Given the description of an element on the screen output the (x, y) to click on. 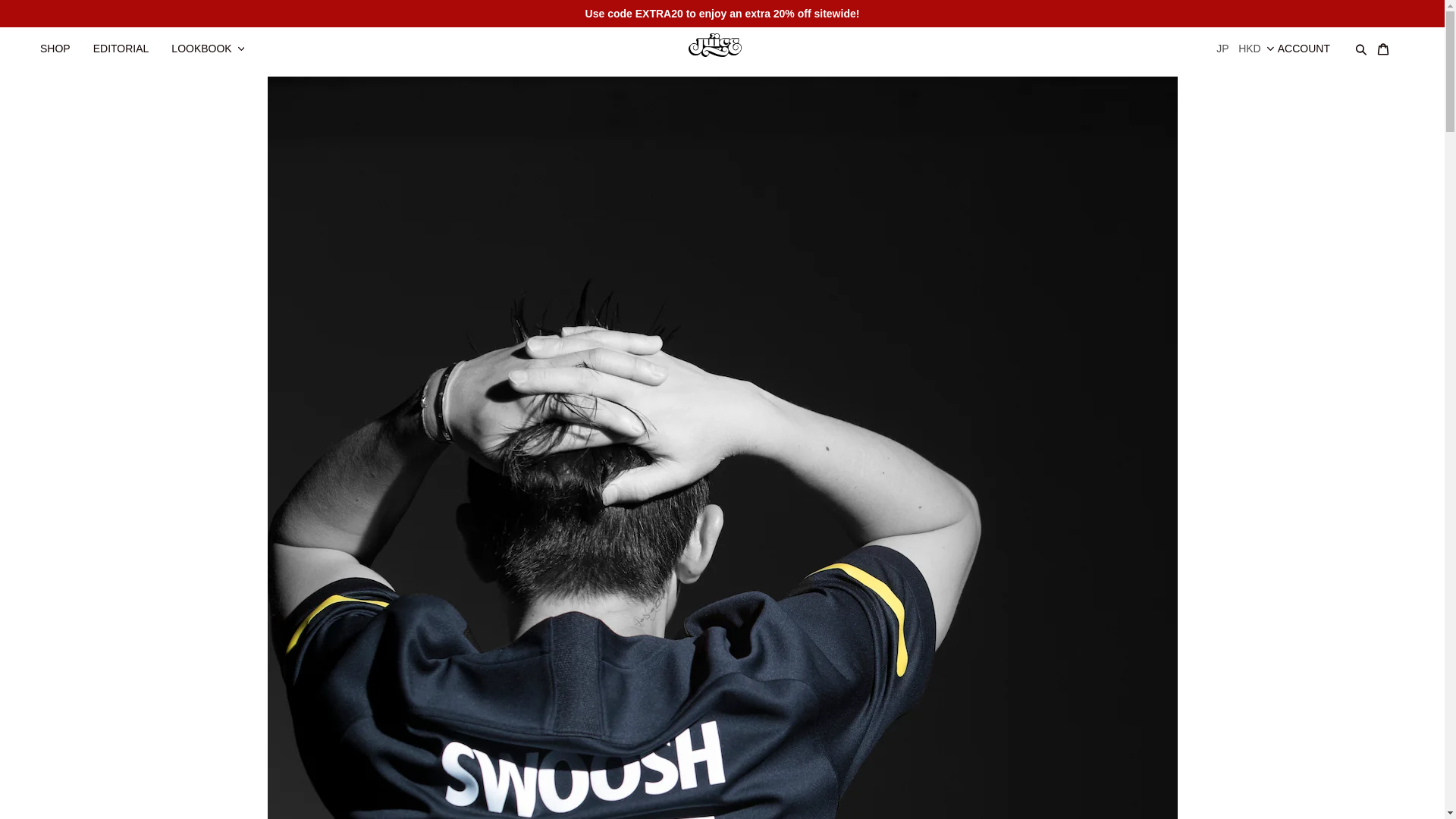
JUICESTORE (722, 43)
ACCOUNT (1311, 41)
EDITORIAL (128, 41)
SHOP (62, 41)
CART (1390, 41)
